Given the description of an element on the screen output the (x, y) to click on. 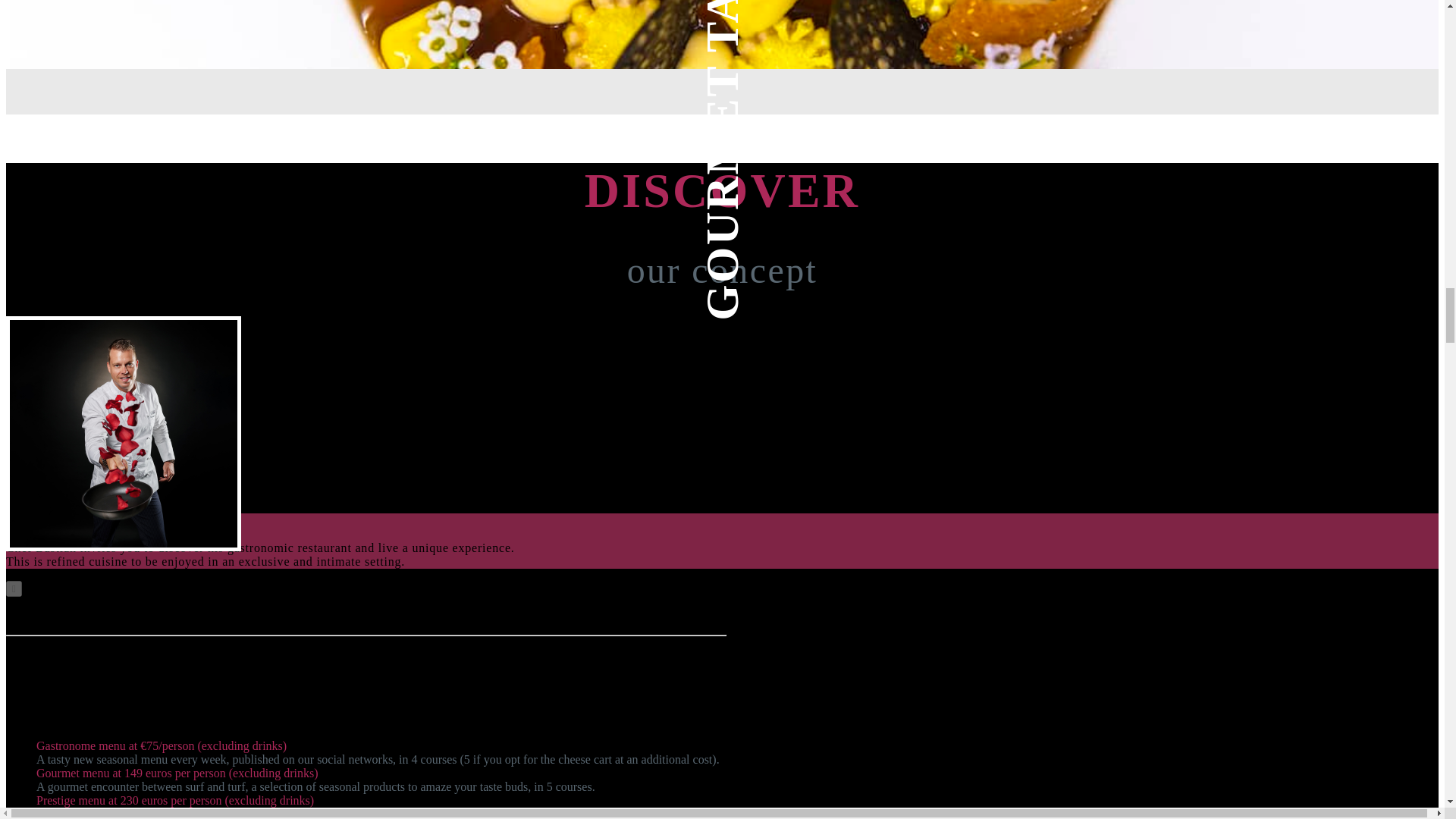
To book a table (112, 521)
Learn more (37, 521)
